Given the description of an element on the screen output the (x, y) to click on. 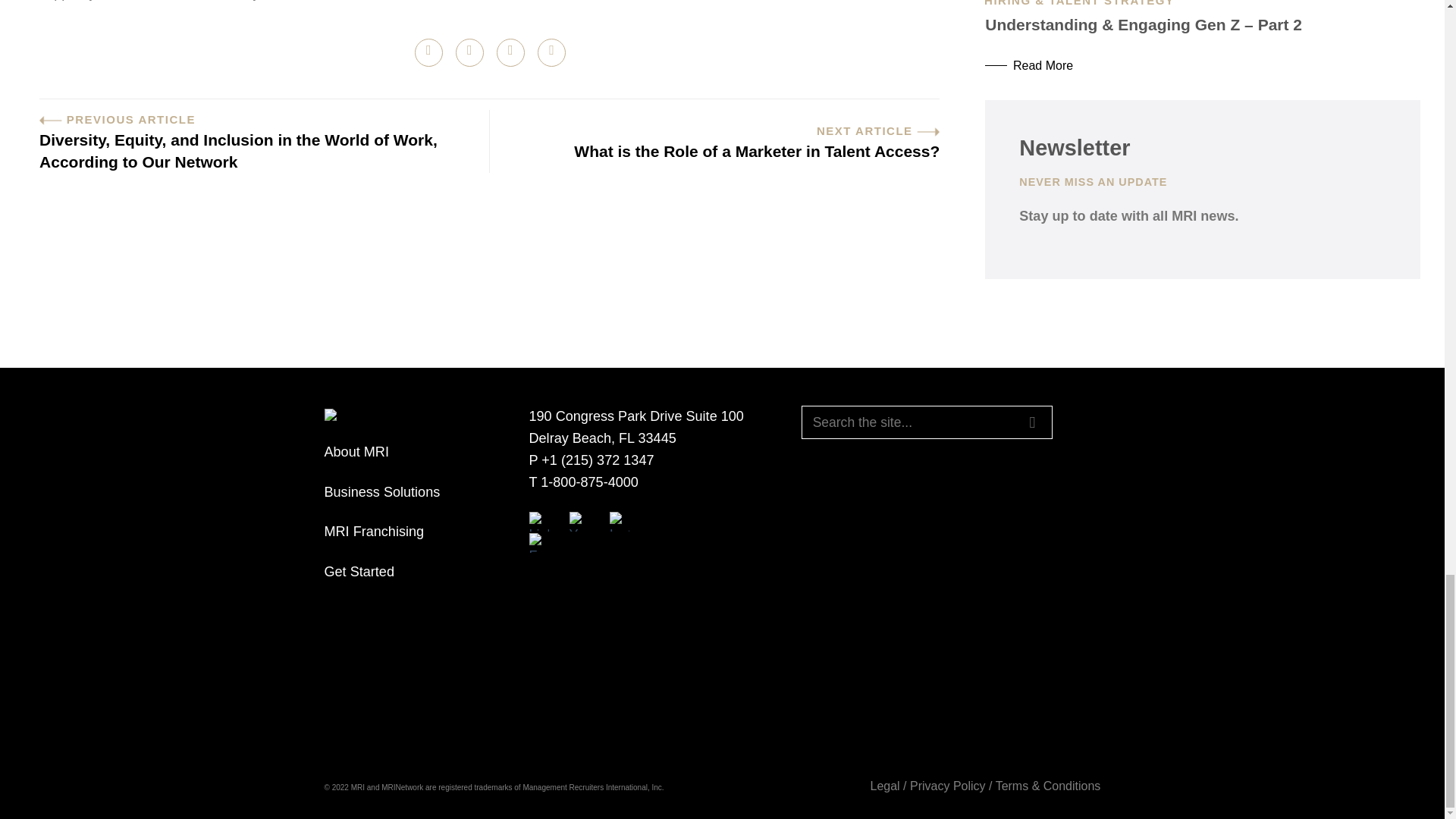
Instagram (619, 521)
Linkedin (538, 521)
YouTube (579, 521)
Share on LinkedIn (551, 52)
Email to a Friend (510, 52)
Facebook (538, 542)
Share on Facebook (428, 52)
Share on Twitter (469, 52)
